Given the description of an element on the screen output the (x, y) to click on. 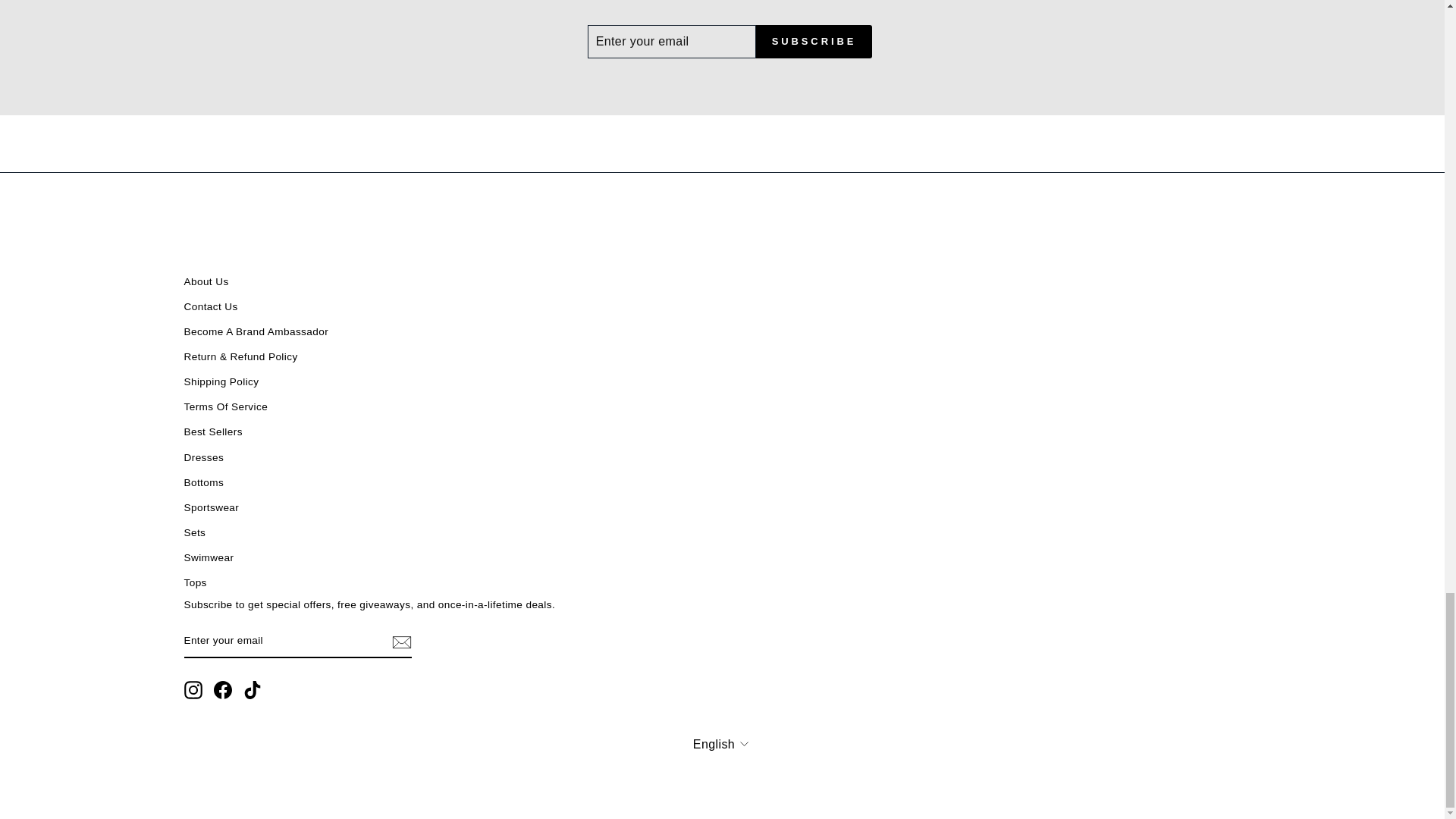
joveal on Facebook (222, 689)
joveal on Instagram (192, 689)
joveal on TikTok (251, 689)
